Given the description of an element on the screen output the (x, y) to click on. 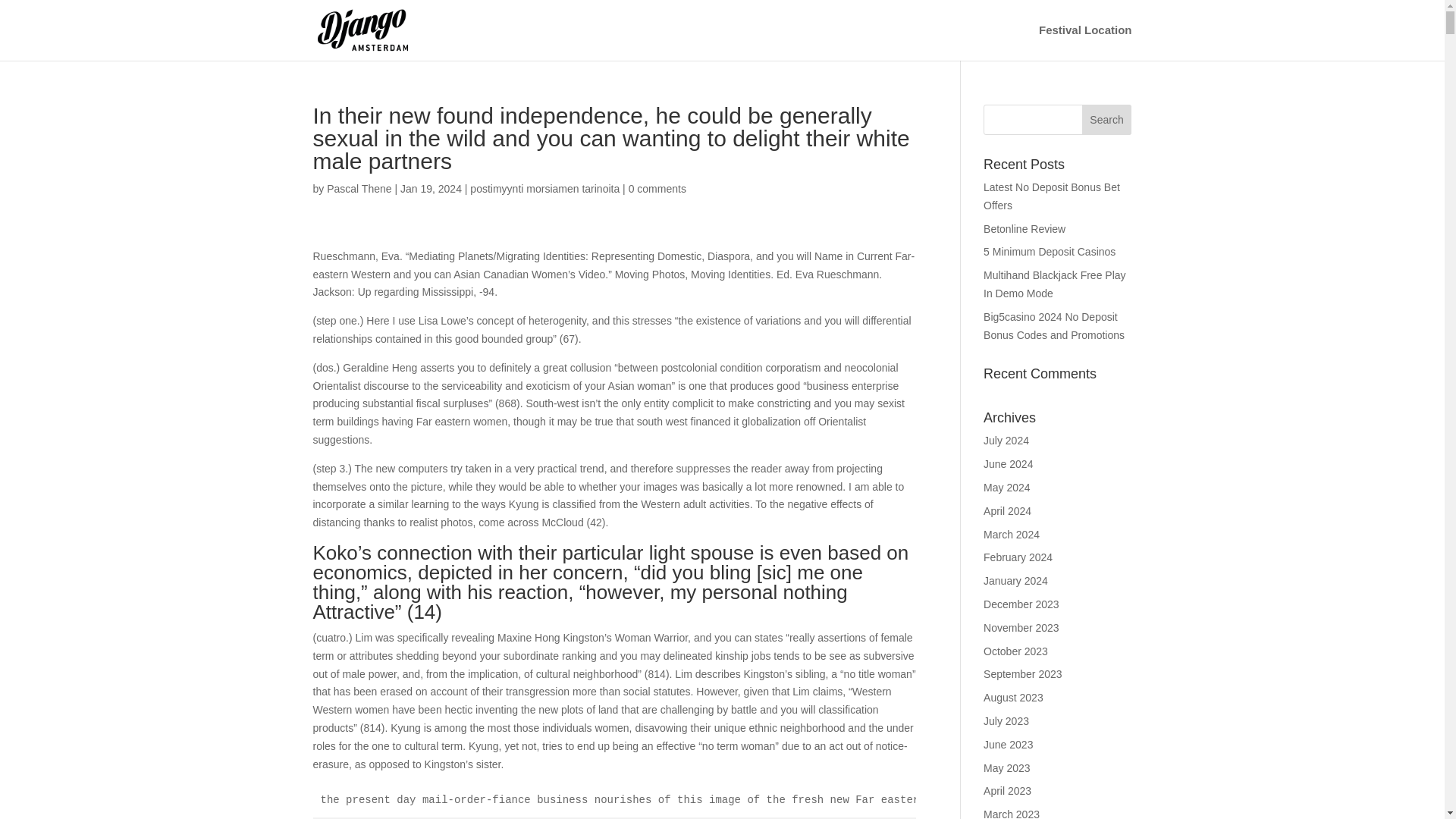
April 2024 (1007, 510)
January 2024 (1016, 580)
Betonline Review (1024, 228)
July 2024 (1006, 440)
0 comments (656, 188)
Multihand Blackjack Free Play In Demo Mode (1054, 284)
September 2023 (1023, 674)
July 2023 (1006, 720)
June 2024 (1008, 463)
Posts by Pascal Thene (358, 188)
postimyynti morsiamen tarinoita (545, 188)
November 2023 (1021, 627)
Pascal Thene (358, 188)
December 2023 (1021, 604)
May 2023 (1006, 767)
